Given the description of an element on the screen output the (x, y) to click on. 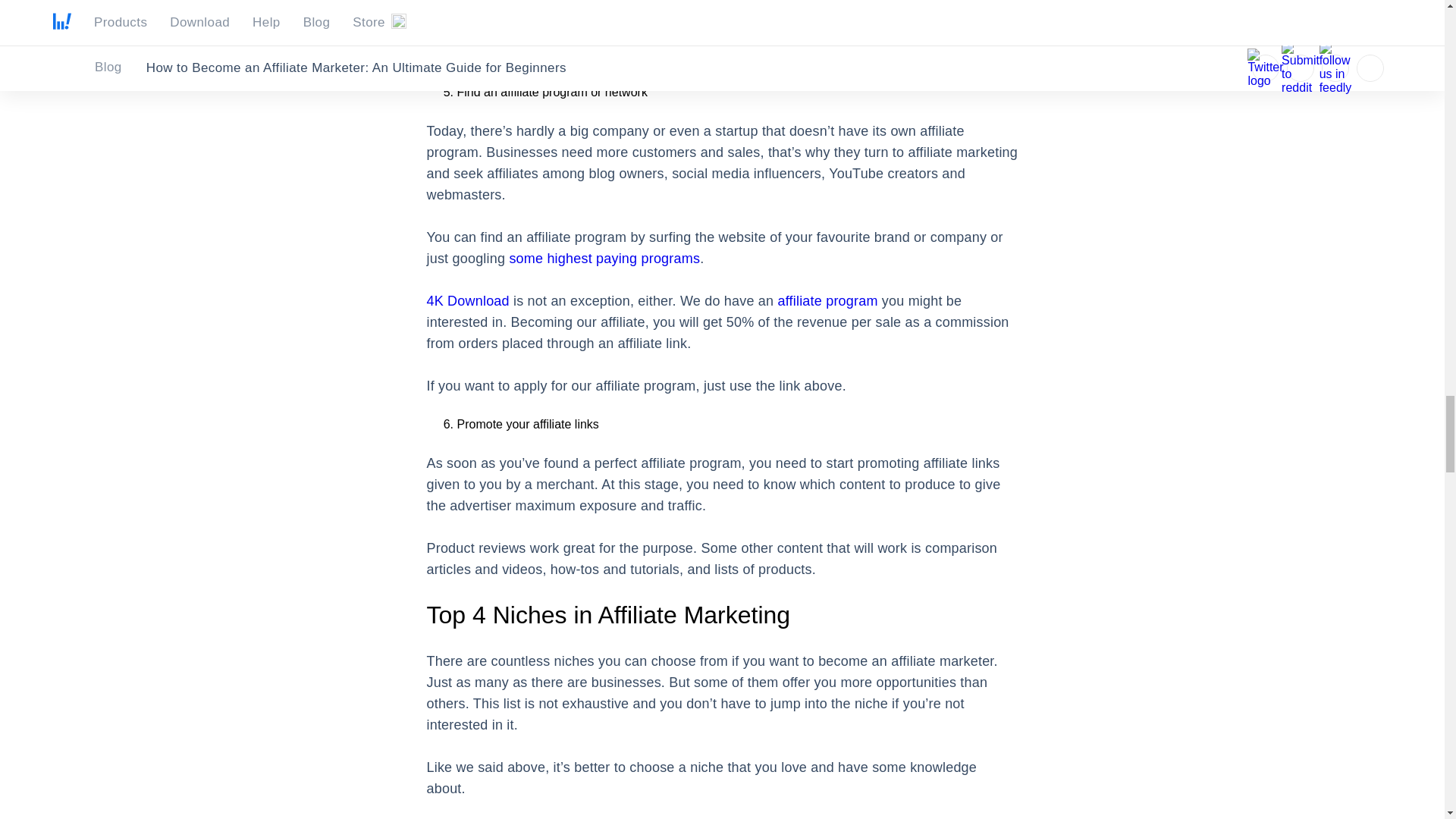
some highest paying programs (604, 258)
